Given the description of an element on the screen output the (x, y) to click on. 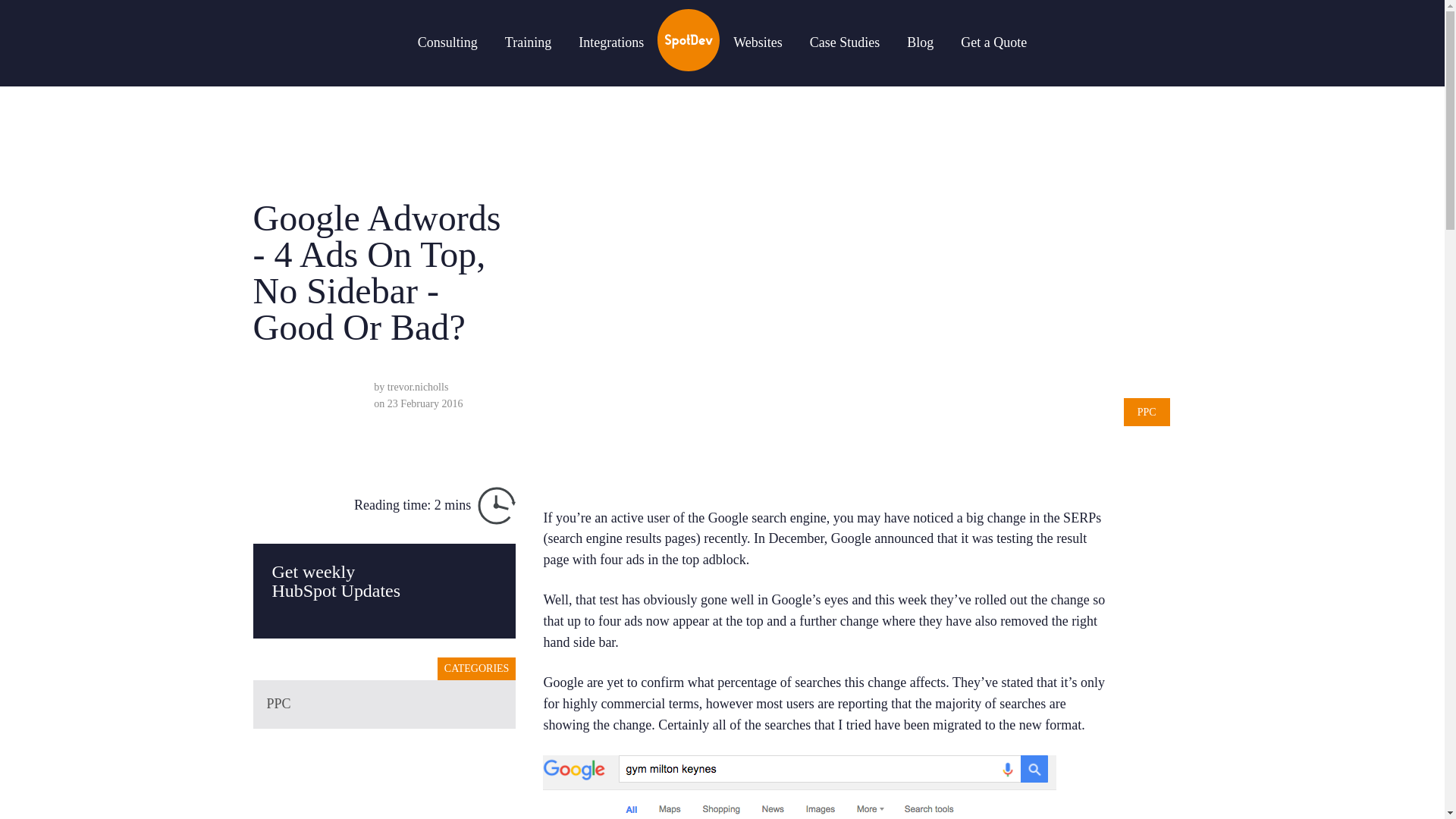
Training (528, 42)
Websites (758, 42)
Get a Quote (993, 42)
Consulting (447, 42)
Case Studies (844, 42)
Integrations (610, 42)
New-Google-ads-format.png (800, 787)
Blog (920, 42)
PPC (384, 703)
trevor.nicholls (417, 387)
